Given the description of an element on the screen output the (x, y) to click on. 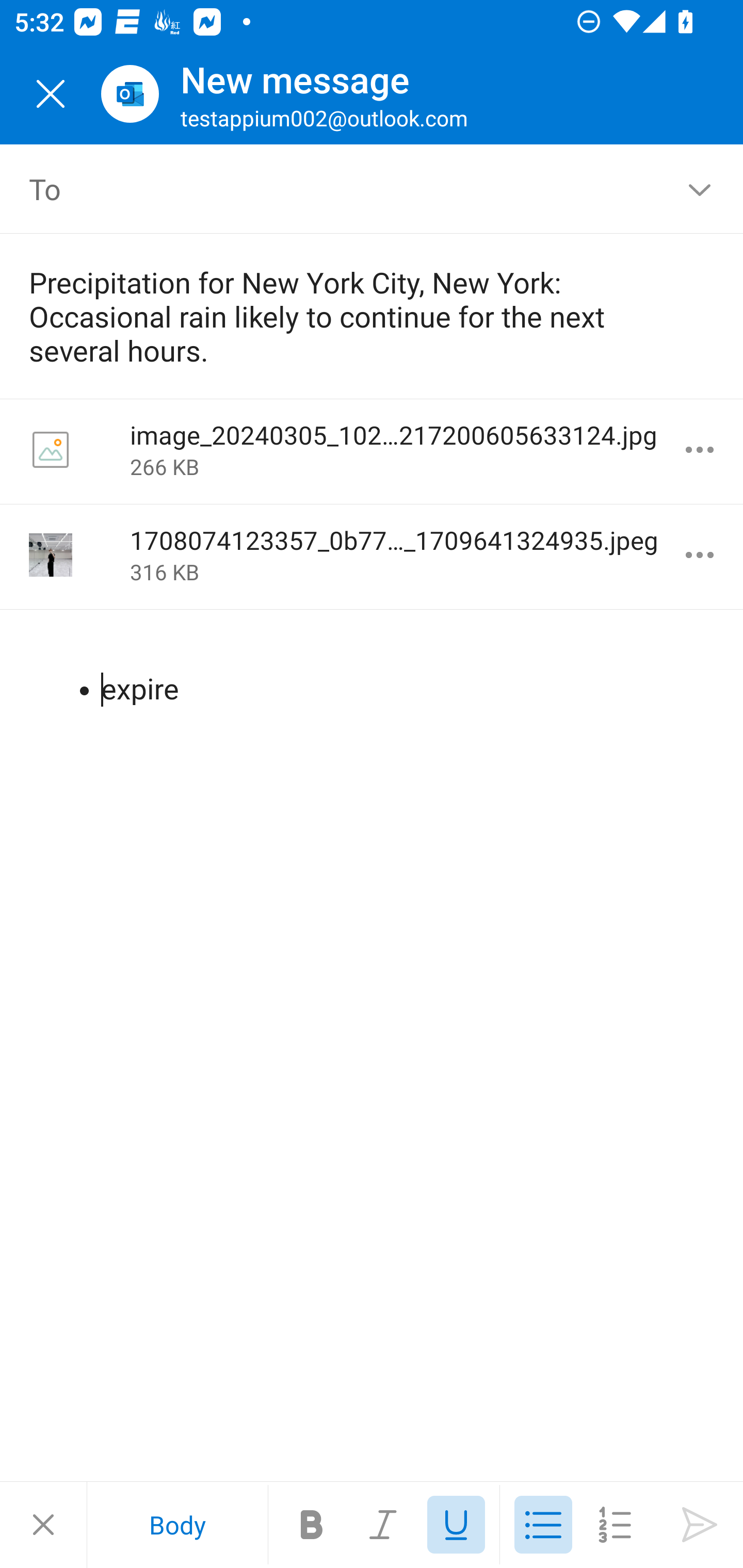
Close (50, 93)
More options (699, 449)
More options (699, 554)

• expire (372, 671)
Close (43, 1524)
Send (699, 1524)
Font style button body Body (176, 1524)
Bold (311, 1524)
Italics (384, 1524)
Selected Underline (456, 1524)
Bulleted list (543, 1524)
Numbered list (615, 1524)
